Given the description of an element on the screen output the (x, y) to click on. 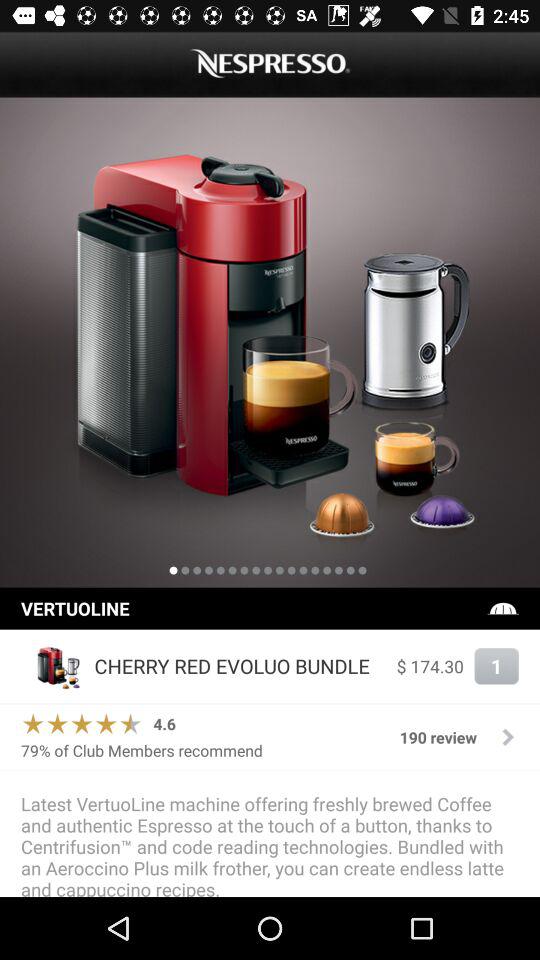
tap icon next to 190 review (164, 723)
